Given the description of an element on the screen output the (x, y) to click on. 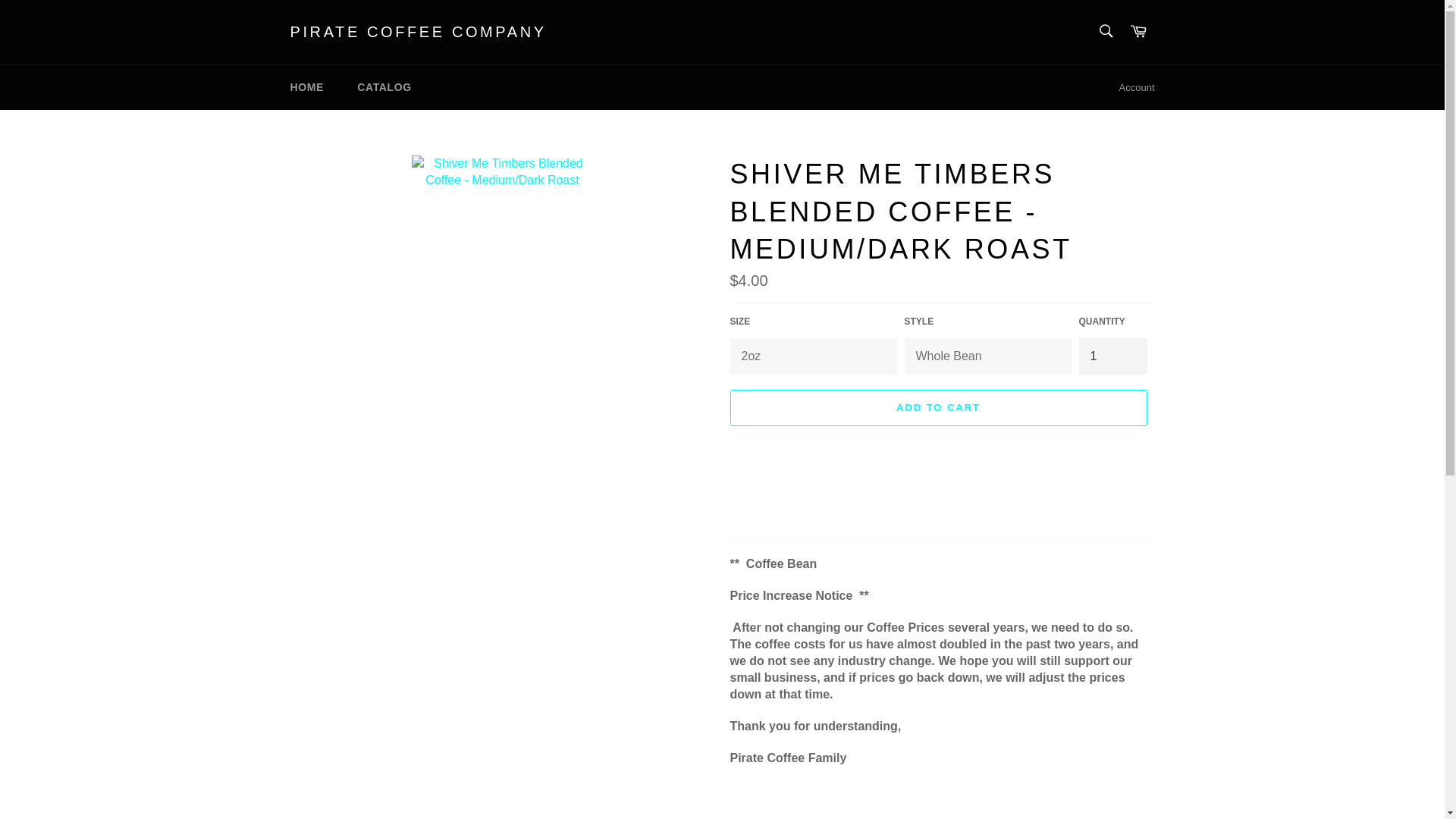
Cart (1138, 32)
1 (1112, 356)
CATALOG (384, 87)
ADD TO CART (938, 407)
PIRATE COFFEE COMPANY (417, 32)
HOME (306, 87)
Search (1104, 30)
Account (1136, 87)
